Given the description of an element on the screen output the (x, y) to click on. 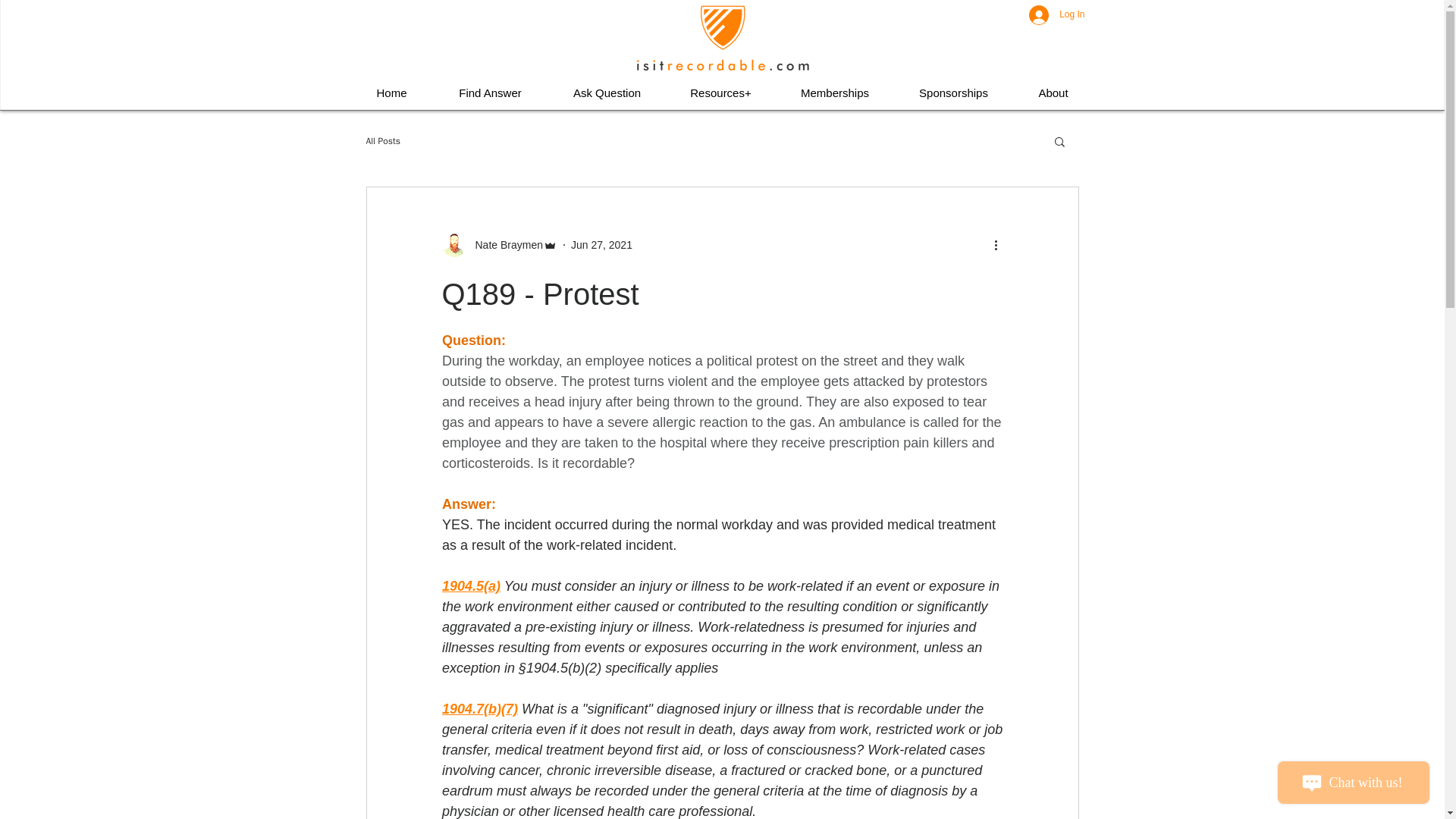
Home (391, 92)
Sponsorships (953, 92)
Nate Braymen (503, 244)
Memberships (834, 92)
Log In (1055, 14)
Find Answer (489, 92)
Jun 27, 2021 (600, 244)
About (1052, 92)
Ask Question (606, 92)
All Posts (382, 141)
Nate Braymen (498, 244)
